Given the description of an element on the screen output the (x, y) to click on. 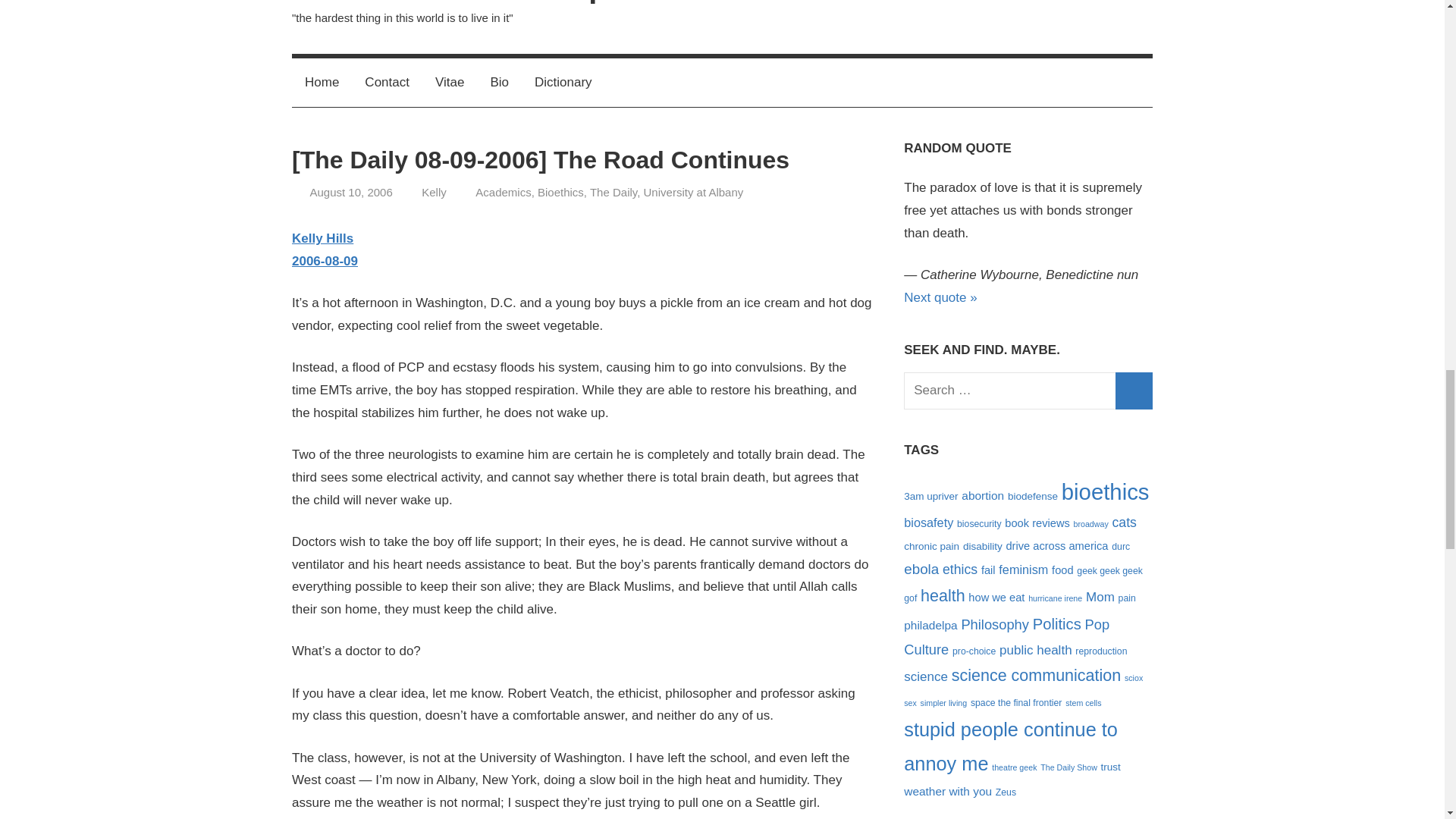
geek geek geek (1109, 570)
Academics (503, 192)
5:57 pm (349, 192)
Kelly (434, 192)
abortion (982, 495)
The Daily (613, 192)
book reviews (1036, 522)
feminism (1023, 569)
biodefense (1032, 496)
Life as an Extreme Sport (469, 2)
